Given the description of an element on the screen output the (x, y) to click on. 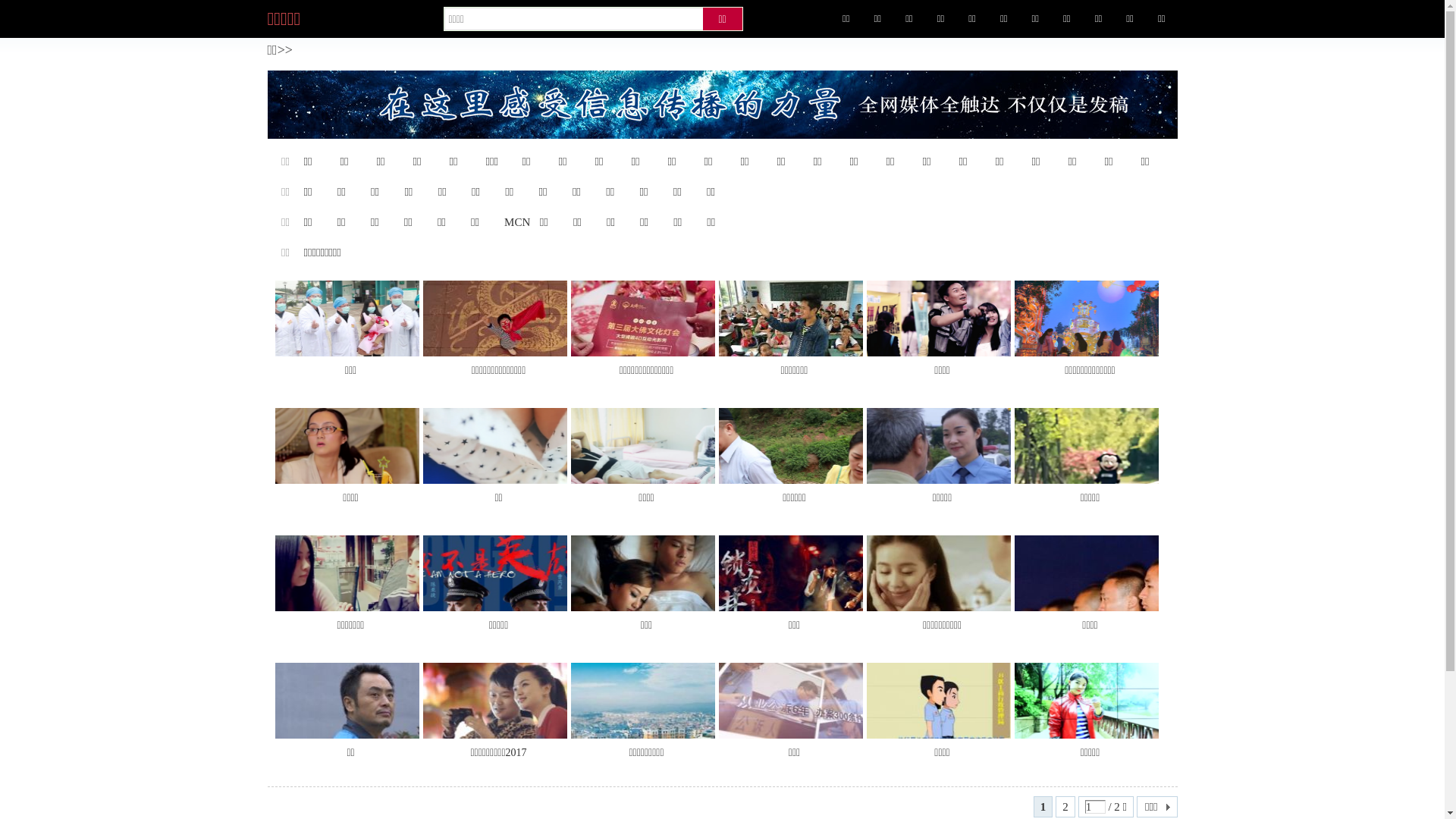
2 Element type: text (1065, 806)
MCN Element type: text (517, 222)
